Given the description of an element on the screen output the (x, y) to click on. 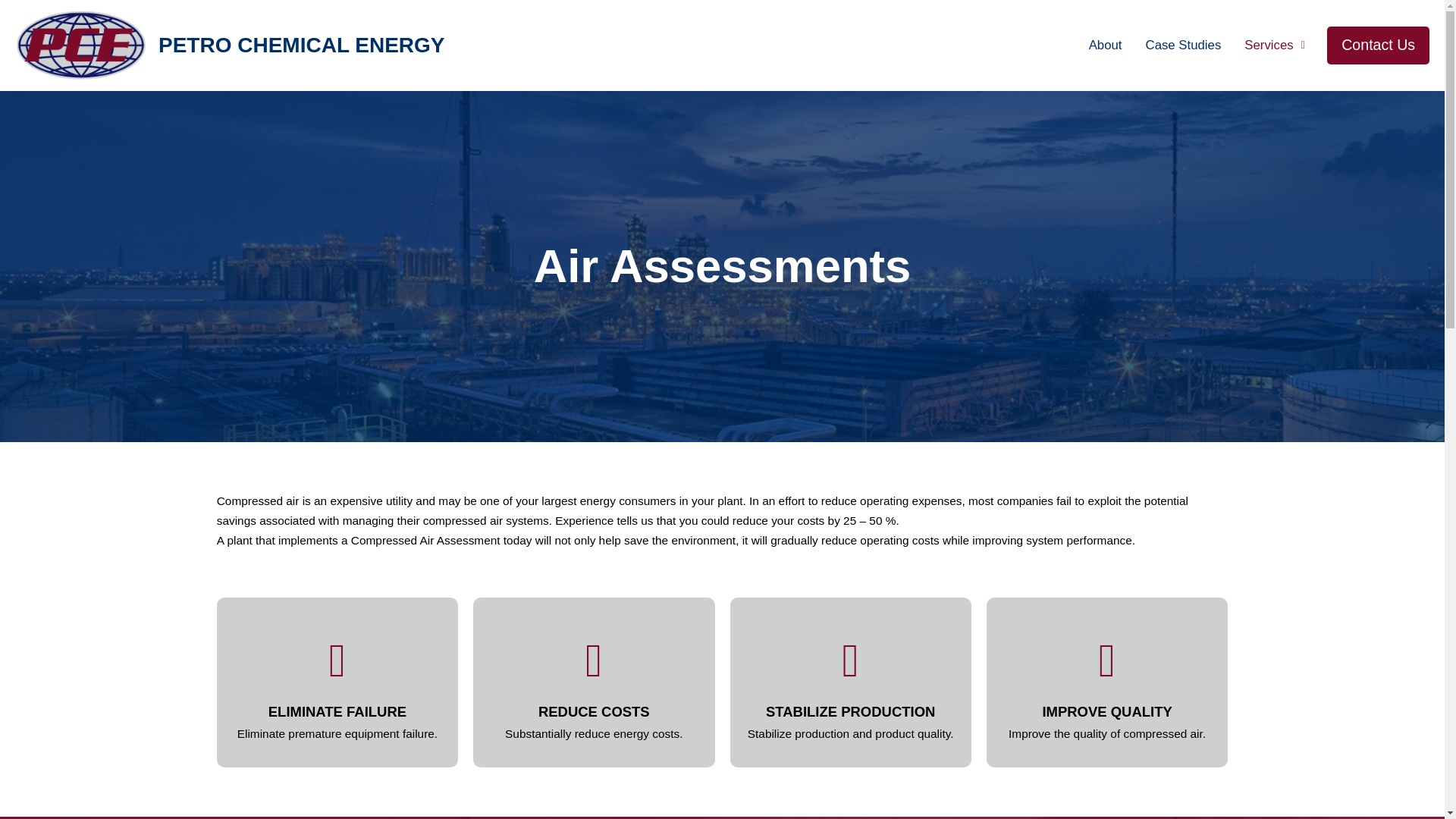
Contact Us (1377, 45)
PETRO CHEMICAL ENERGY (301, 44)
Case Studies (1183, 45)
Services (1274, 45)
